Given the description of an element on the screen output the (x, y) to click on. 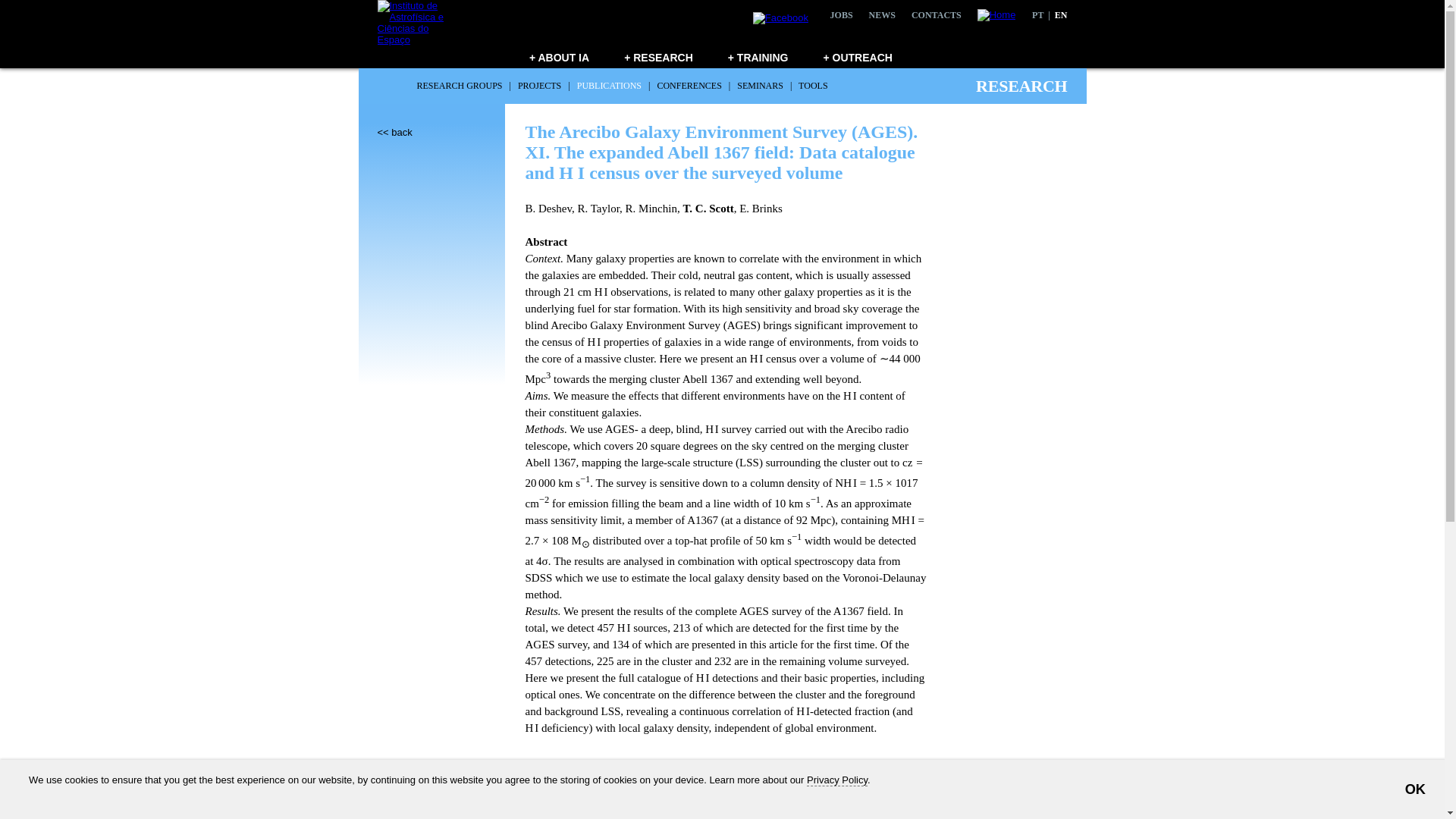
RESEARCH GROUPS (459, 85)
Home (989, 14)
SEMINARS (759, 85)
CONFERENCES (688, 85)
Facebook (780, 18)
PROJECTS (539, 85)
JOBS (841, 14)
PT (1037, 14)
NEWS (882, 14)
CONTACTS (935, 14)
